Given the description of an element on the screen output the (x, y) to click on. 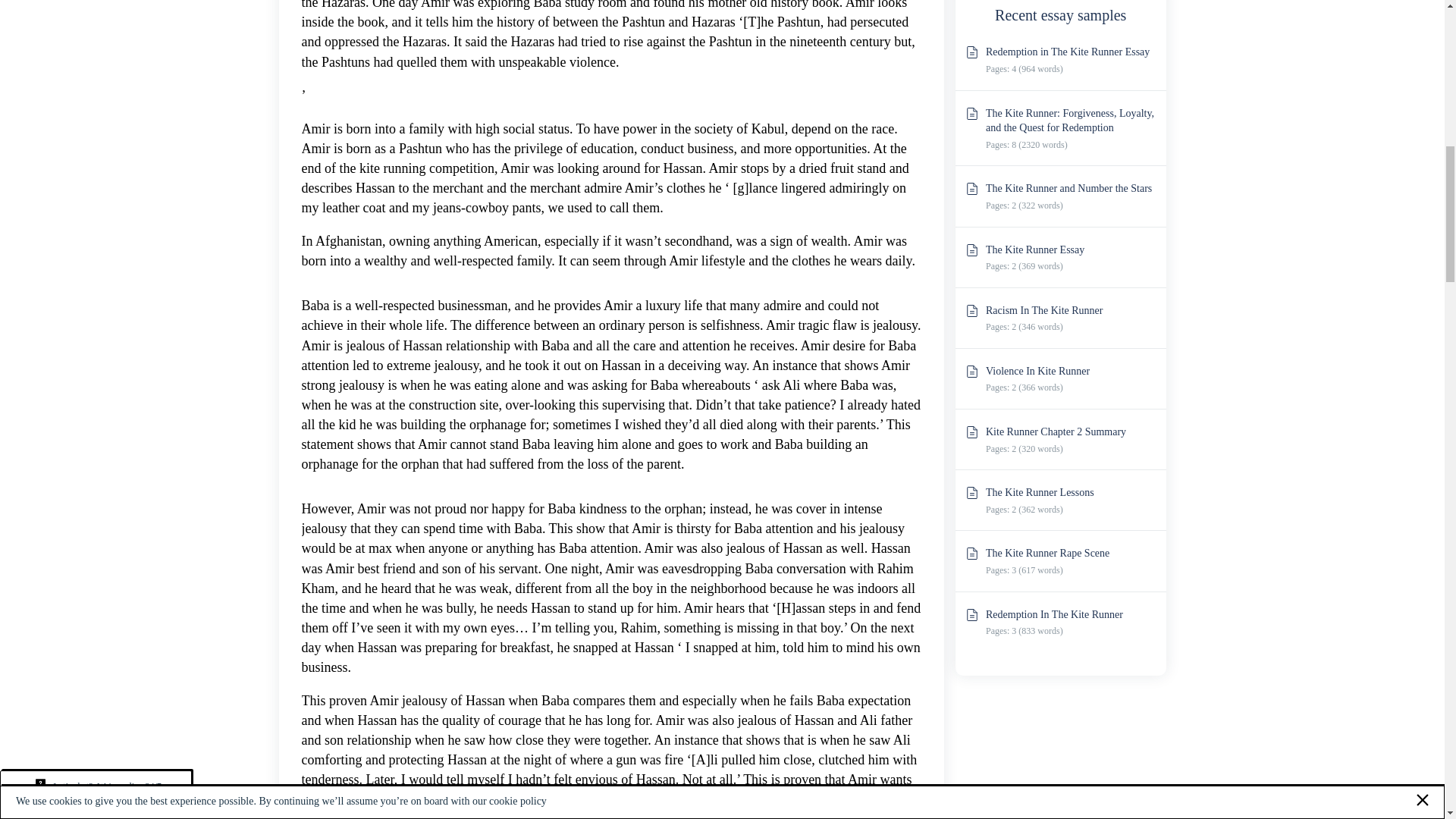
The Kite Runner Rape Scene (1047, 552)
Redemption In The Kite Runner (1053, 614)
The Kite Runner and Number the Stars (1068, 188)
Redemption in The Kite Runner Essay (1067, 51)
The Kite Runner Lessons (1039, 491)
Violence In Kite Runner (1037, 370)
Racism In The Kite Runner (1044, 310)
The Kite Runner Essay (1034, 249)
Kite Runner Chapter 2 Summary (1055, 431)
